Given the description of an element on the screen output the (x, y) to click on. 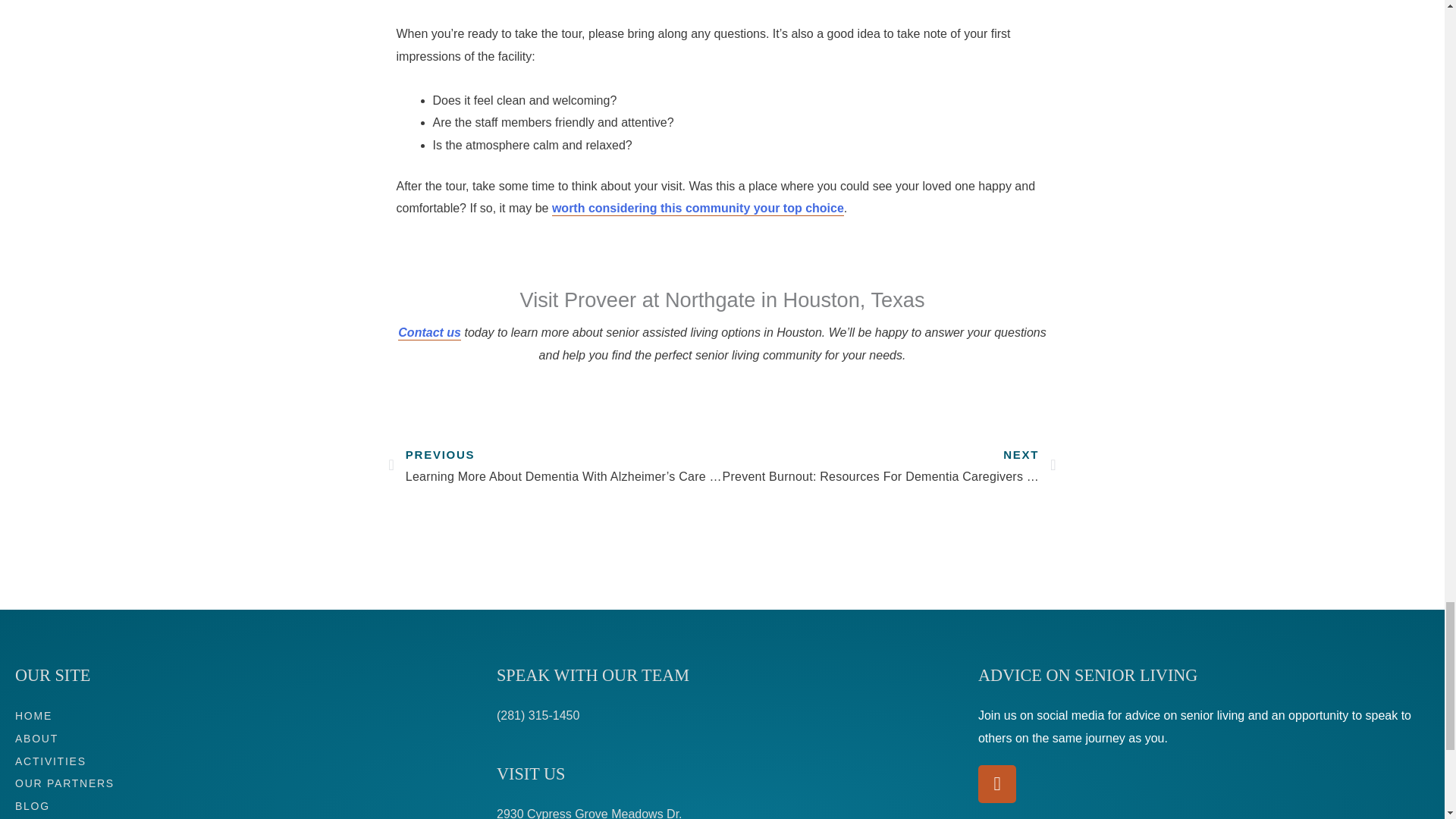
Contact us (429, 332)
worth considering this community your top choice (697, 208)
